Given the description of an element on the screen output the (x, y) to click on. 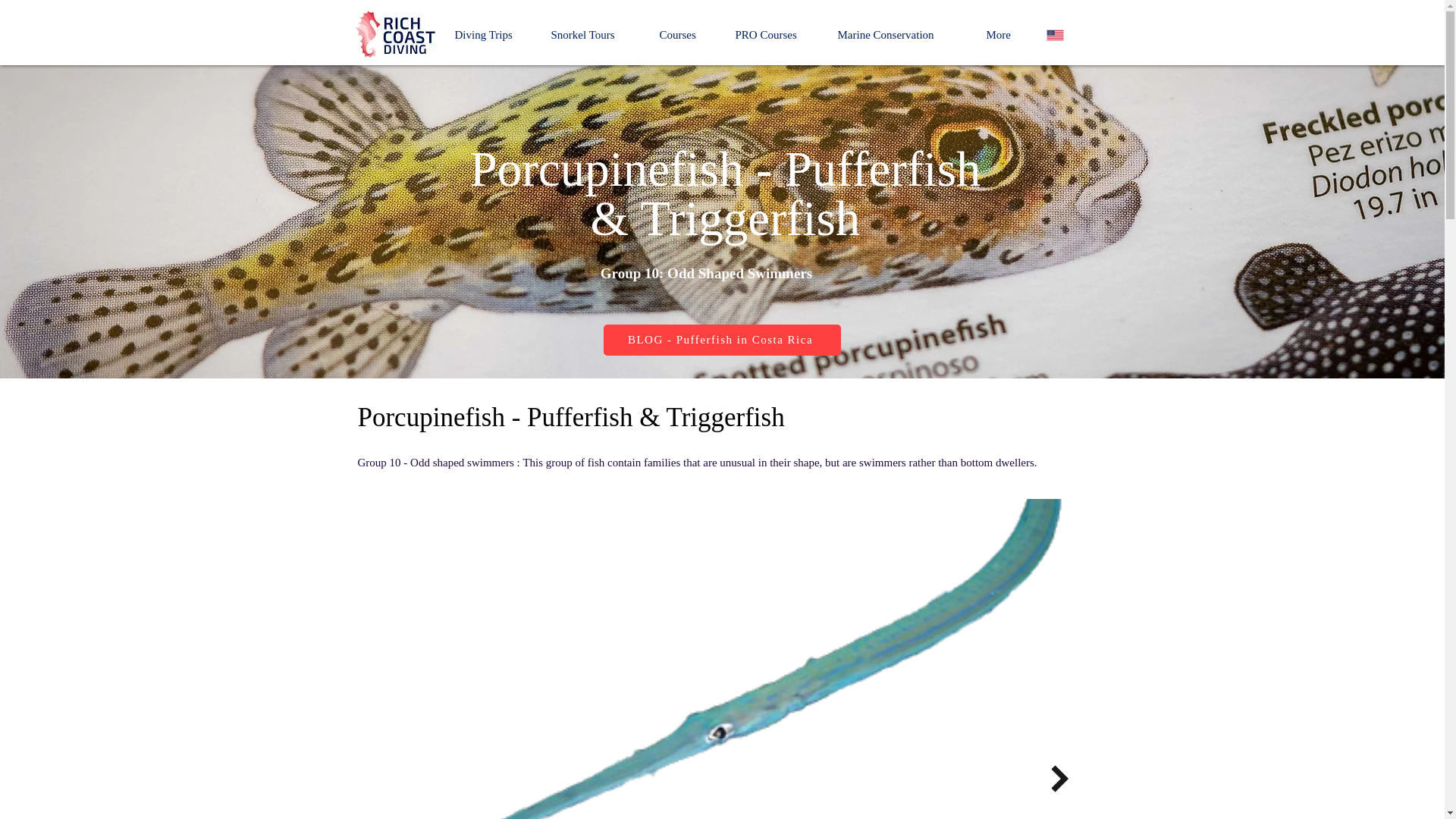
Diving Trips (490, 34)
Courses (685, 34)
Rich Coast Diving Costa Rica Logo (395, 34)
PRO Courses (774, 34)
Snorkel Tours (593, 34)
Marine Conservation (901, 34)
